Given the description of an element on the screen output the (x, y) to click on. 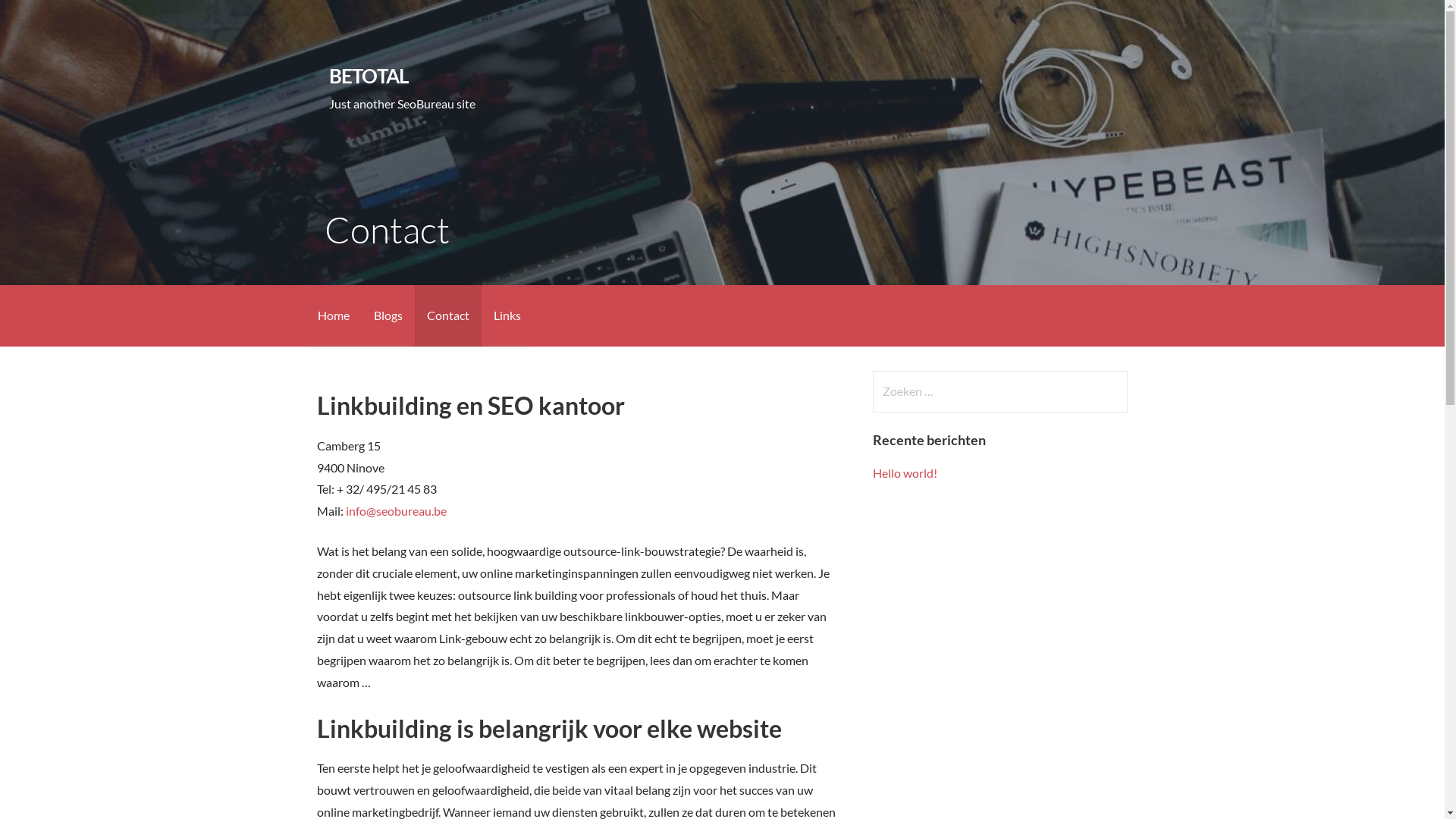
Contact Element type: text (447, 315)
Blogs Element type: text (387, 315)
Links Element type: text (506, 315)
BETOTAL Element type: text (368, 75)
Hello world! Element type: text (904, 472)
Home Element type: text (332, 315)
info@seobureau.be Element type: text (395, 510)
Zoeken Element type: text (42, 18)
